Given the description of an element on the screen output the (x, y) to click on. 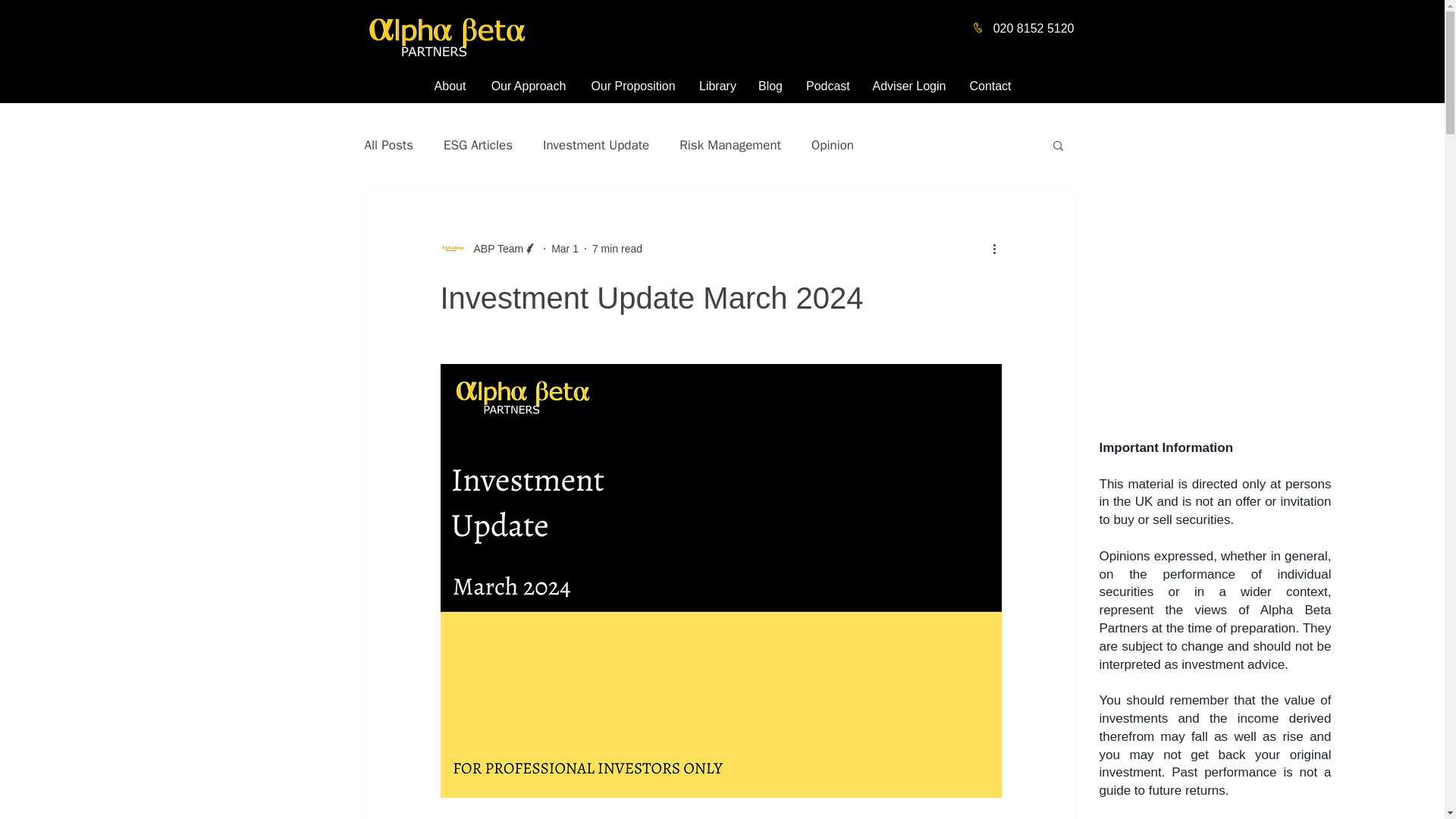
Risk Management (729, 144)
Opinion (831, 144)
Adviser Login (909, 85)
Blog (769, 85)
Contact (990, 85)
ABP Team (493, 248)
AlphBetaPartners (445, 36)
Podcast (827, 85)
ABP Team (488, 248)
Mar 1 (564, 248)
